Given the description of an element on the screen output the (x, y) to click on. 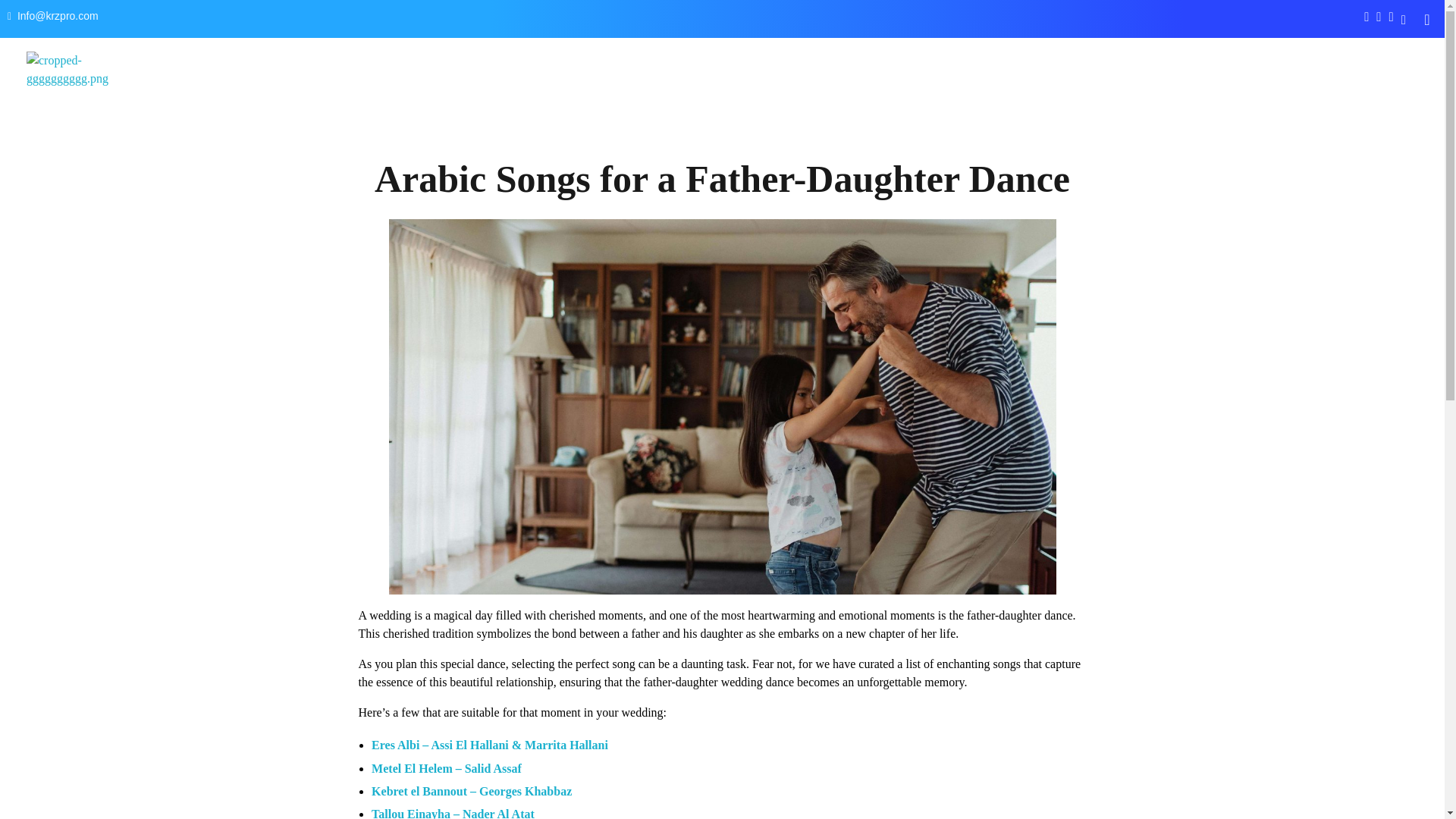
KRZ Productions (100, 108)
KRZ Productions (100, 108)
KRZ Productions (71, 75)
